Given the description of an element on the screen output the (x, y) to click on. 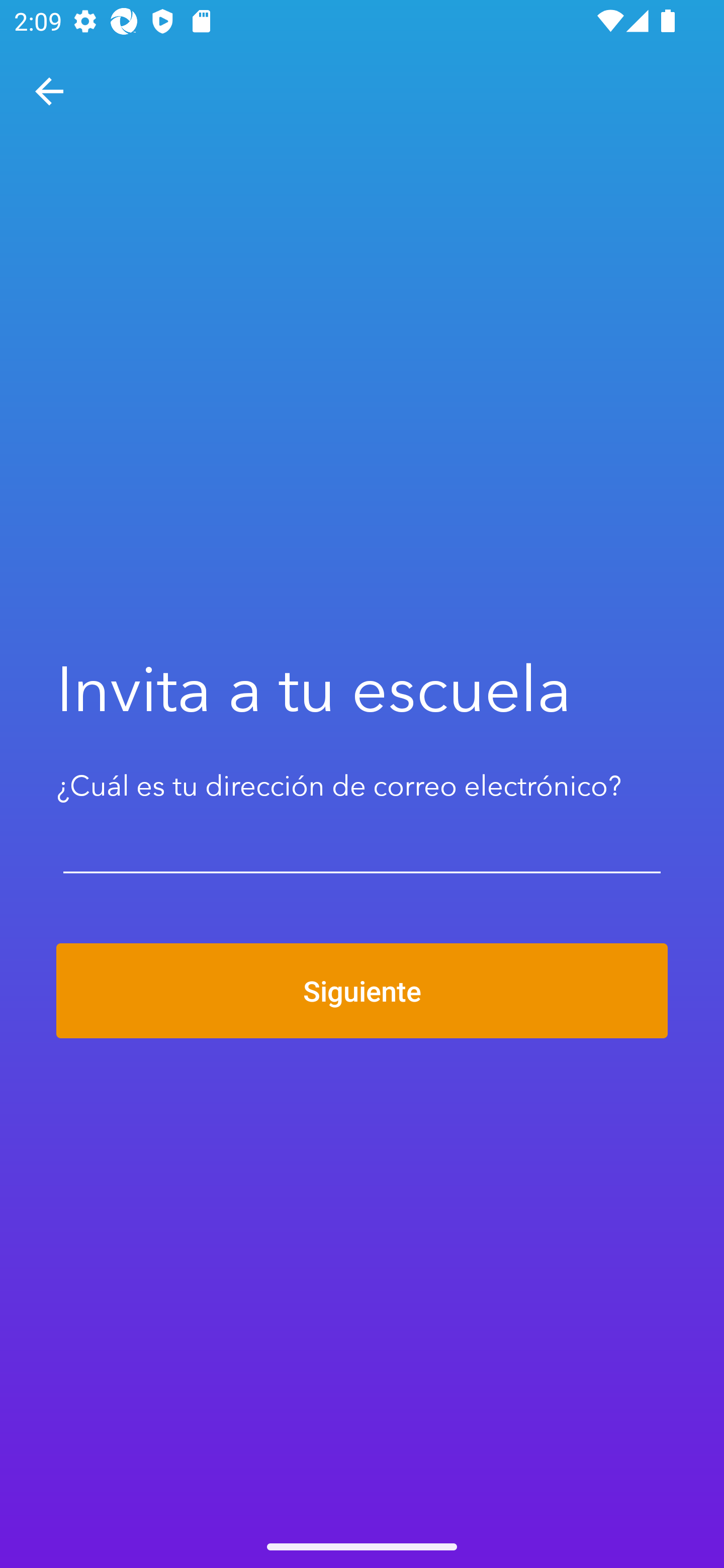
Navegar hacia arriba (49, 91)
Siguiente (361, 990)
